Given the description of an element on the screen output the (x, y) to click on. 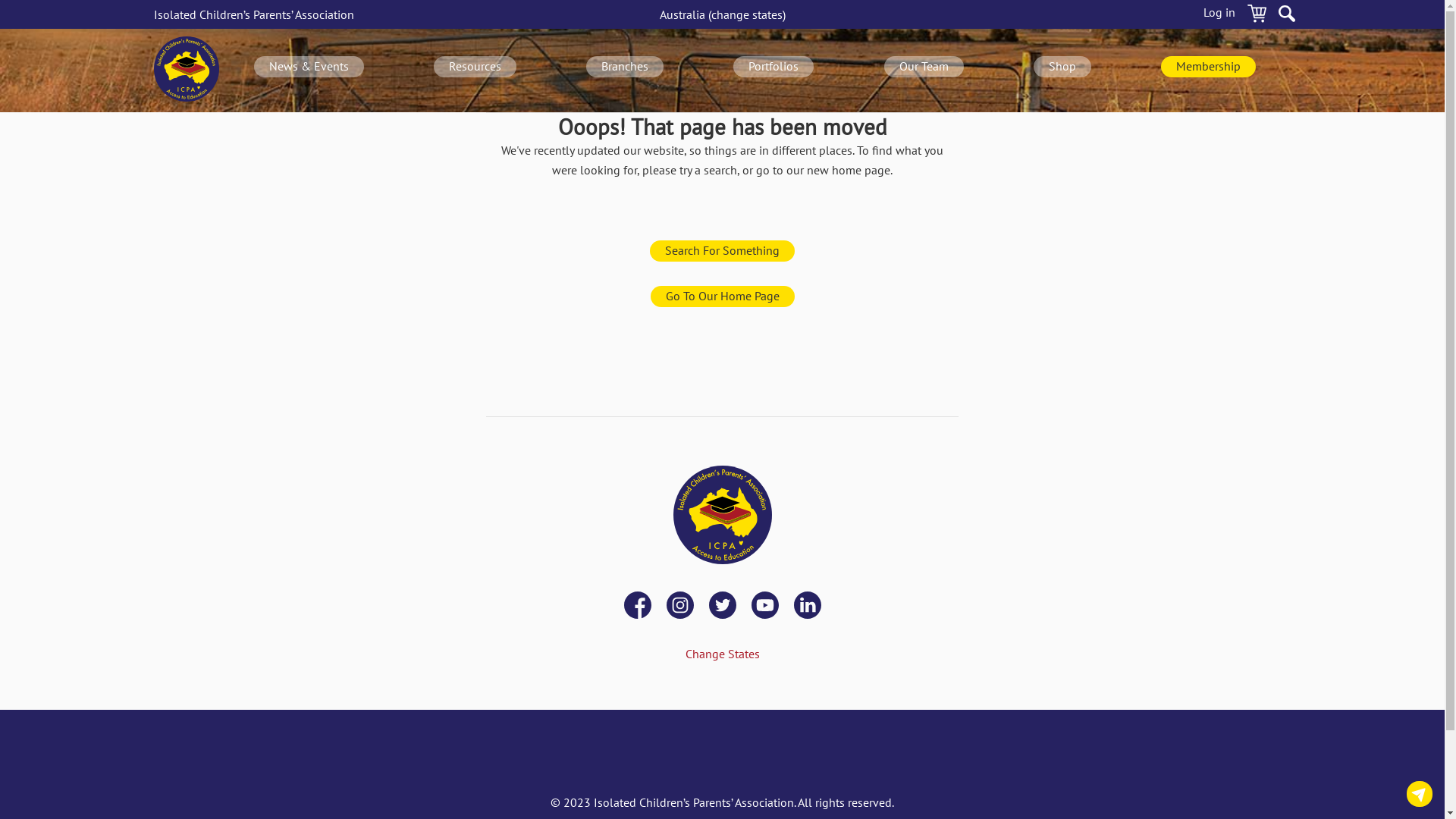
Follow us on Youtube Element type: hover (764, 606)
ICPA Australia Element type: hover (722, 516)
Portfolios Element type: text (773, 66)
Shop Element type: text (1062, 66)
Resources Element type: text (474, 66)
Contact us Element type: text (1419, 793)
Follow us on LinkedIn Element type: hover (806, 606)
Skip to main content Element type: text (0, 0)
Branches Element type: text (624, 66)
Follow us on Instagram Element type: hover (679, 606)
View cart Element type: hover (1256, 15)
Change States Element type: text (722, 653)
Follow us on Facebook Element type: hover (636, 606)
Log in Element type: text (1219, 15)
News & Events Element type: text (309, 66)
Australia (change states) Element type: text (722, 13)
Search For Something Element type: text (721, 250)
Follow us on Twitter Element type: hover (721, 606)
Search Element type: hover (1286, 15)
Our Team Element type: text (923, 66)
Go To Our Home Page Element type: text (722, 296)
ICPA Australia Element type: hover (185, 70)
Membership Element type: text (1208, 66)
